Given the description of an element on the screen output the (x, y) to click on. 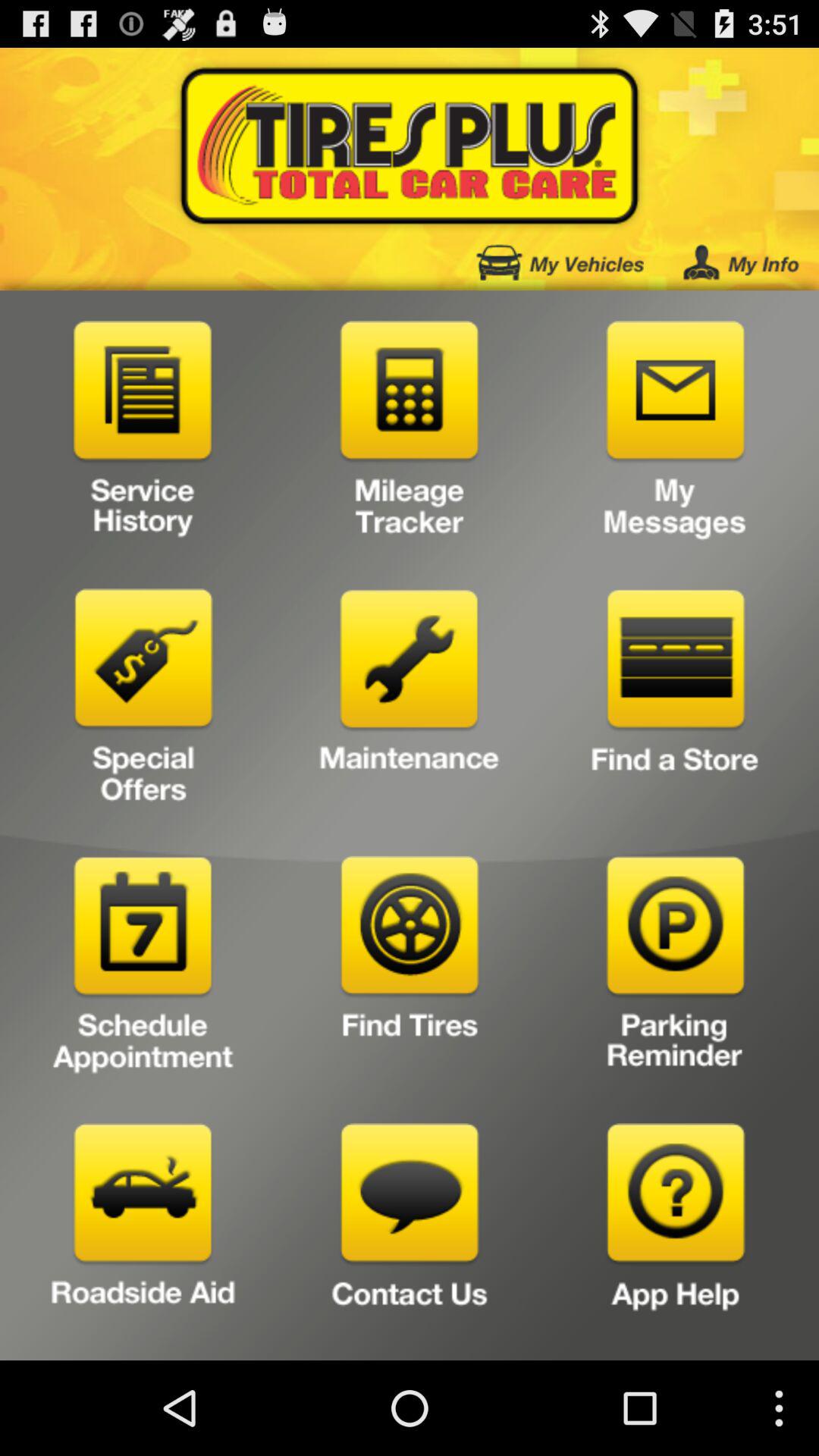
launch icon at the bottom left corner (142, 1236)
